Given the description of an element on the screen output the (x, y) to click on. 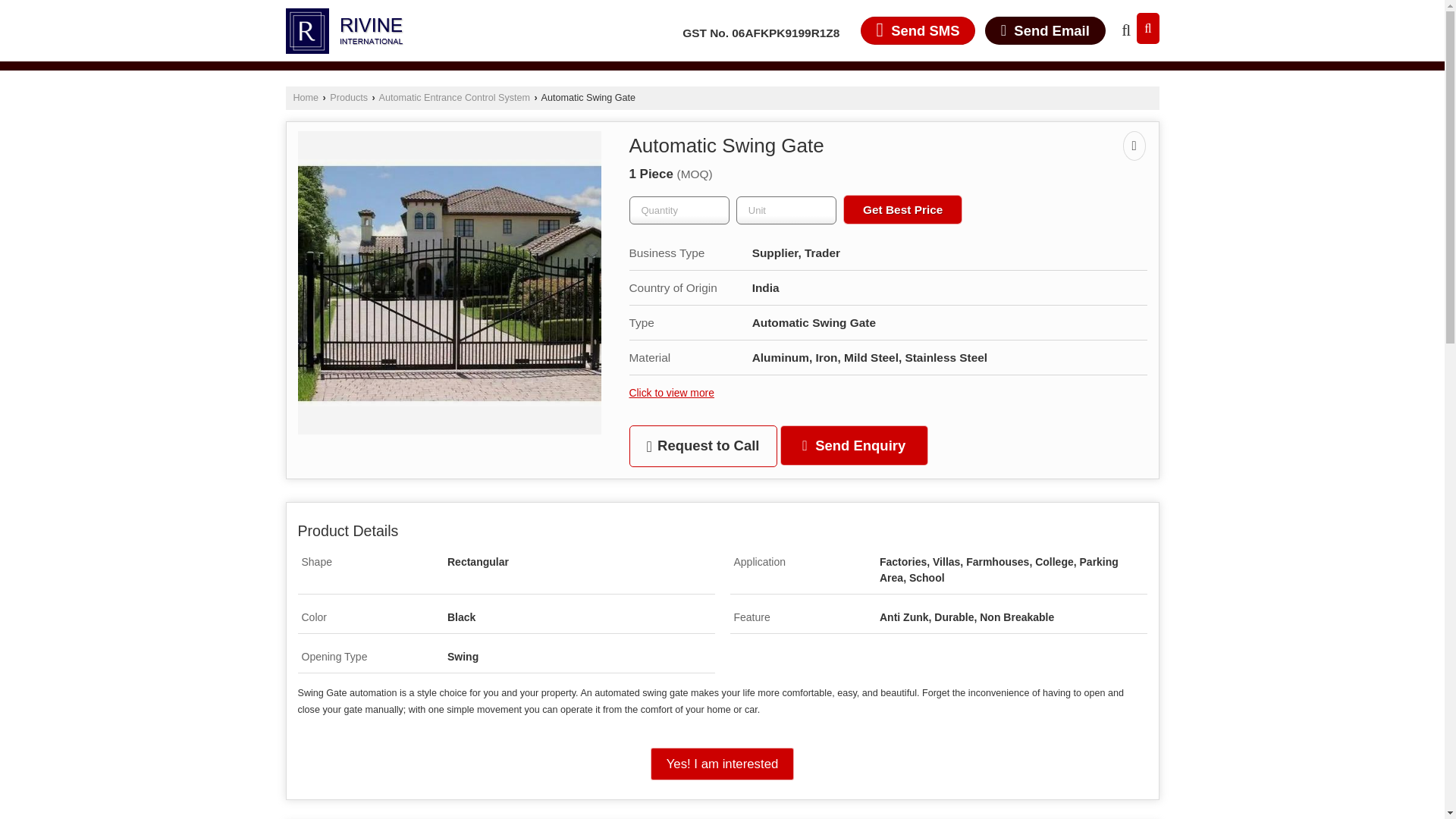
Home (305, 97)
Send Email (1045, 30)
Products (349, 97)
Rivine International (344, 30)
Rivine International (344, 31)
Send SMS (917, 30)
Automatic Entrance Control System (453, 97)
